Given the description of an element on the screen output the (x, y) to click on. 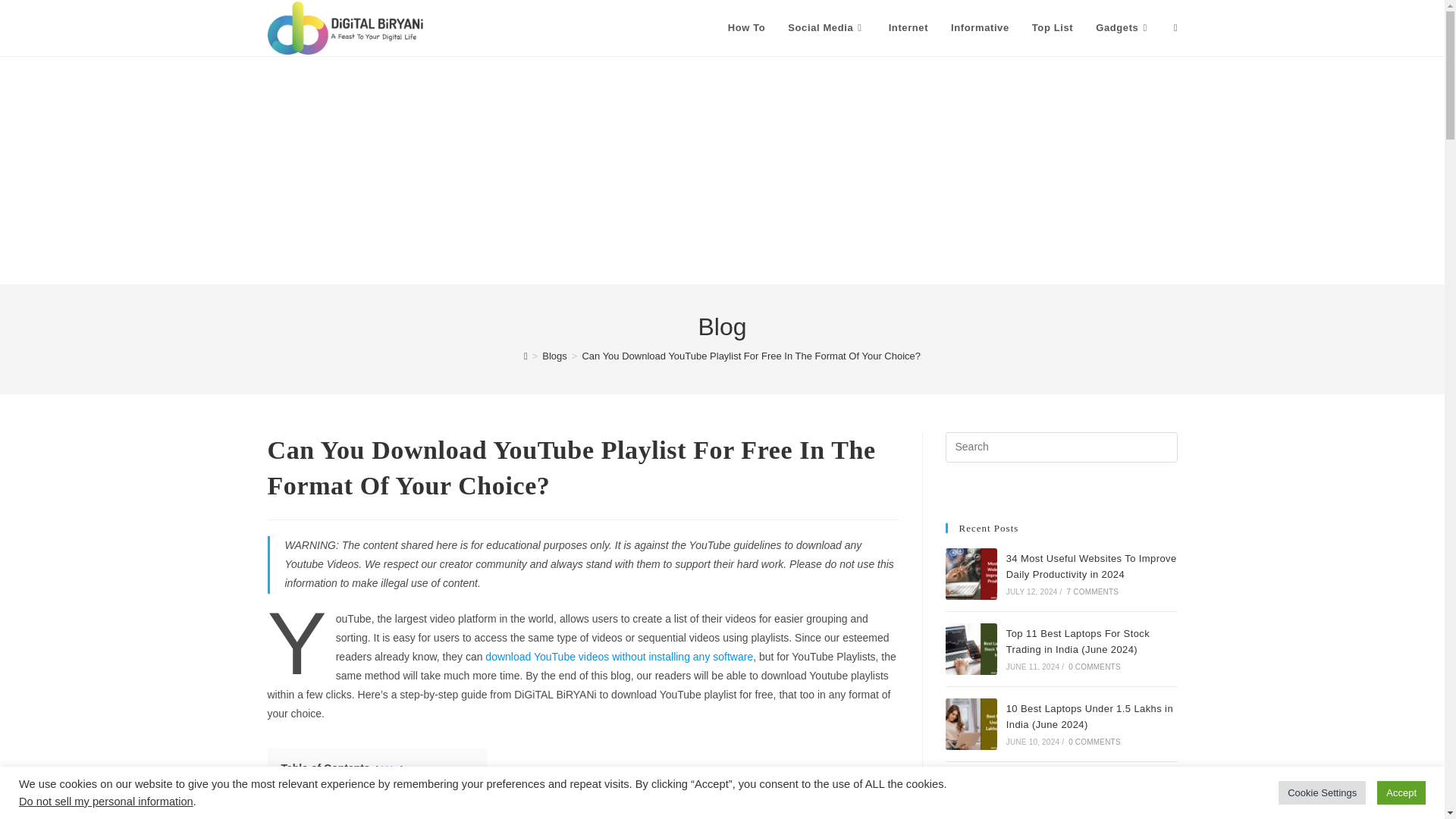
download YouTube videos without installing any software (618, 656)
Gadgets (1122, 28)
Internet (908, 28)
hide (389, 768)
Blogs (554, 355)
Top List (1052, 28)
Social Media (826, 28)
How To (746, 28)
Informative (979, 28)
Steps to Download YouTube Playlist For Free (377, 790)
Toggle website search (1175, 28)
